Given the description of an element on the screen output the (x, y) to click on. 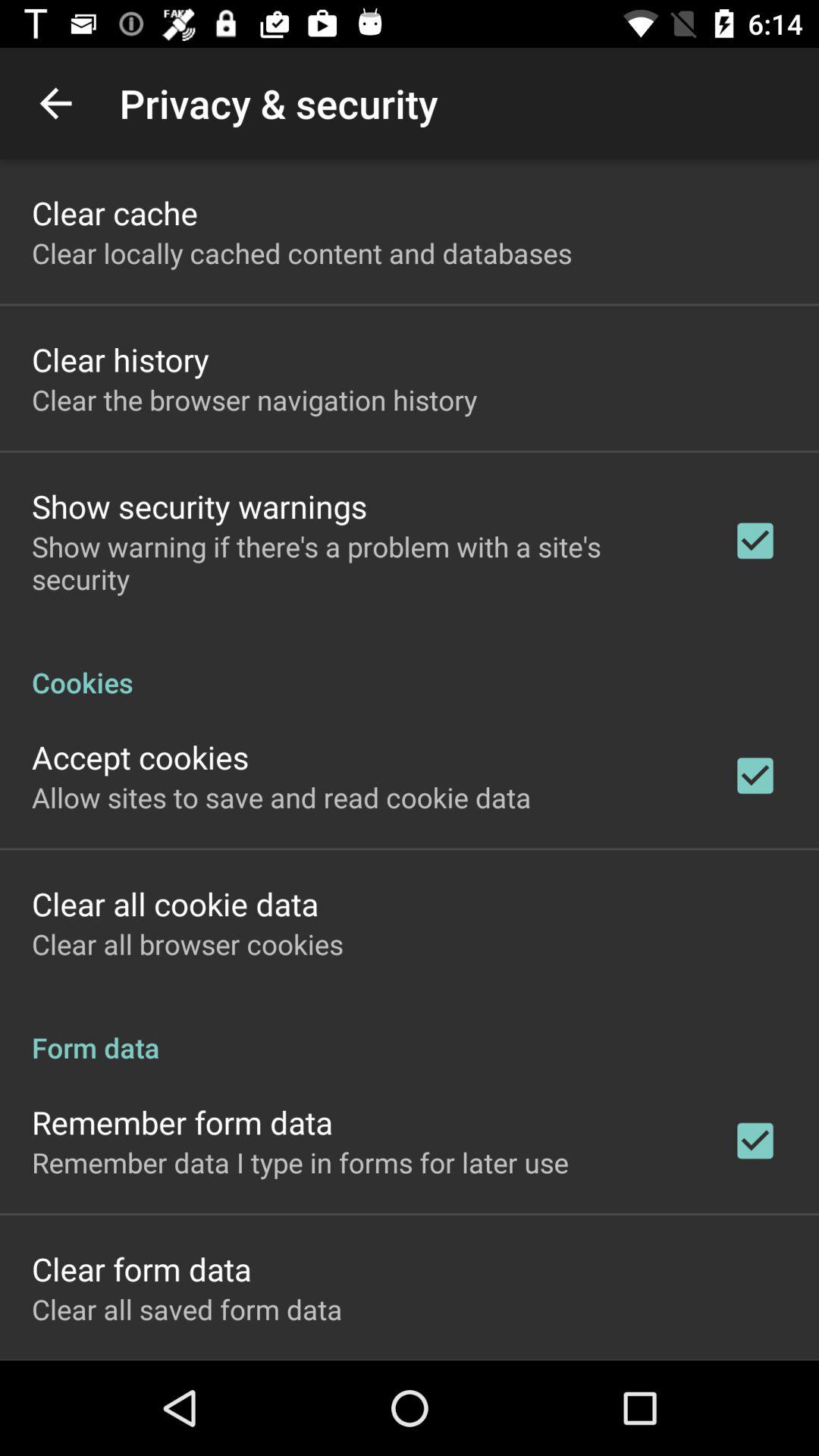
scroll until clear locally cached icon (301, 252)
